Given the description of an element on the screen output the (x, y) to click on. 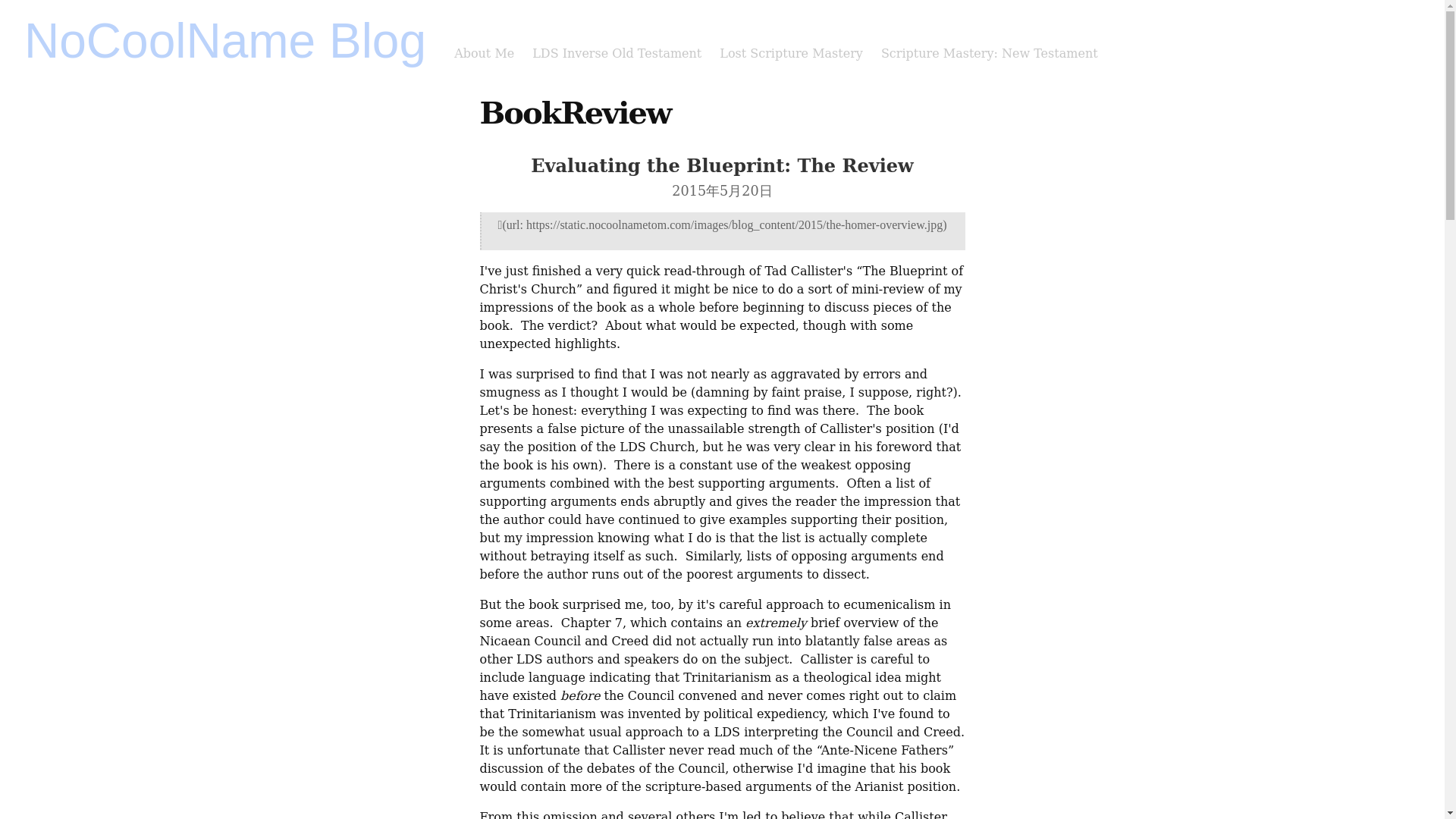
Lost Scripture Mastery (791, 52)
NoCoolName Blog (225, 40)
Scripture Mastery: New Testament (988, 52)
About Me (483, 52)
Evaluating the Blueprint: The Review (721, 165)
LDS Inverse Old Testament (616, 52)
